Given the description of an element on the screen output the (x, y) to click on. 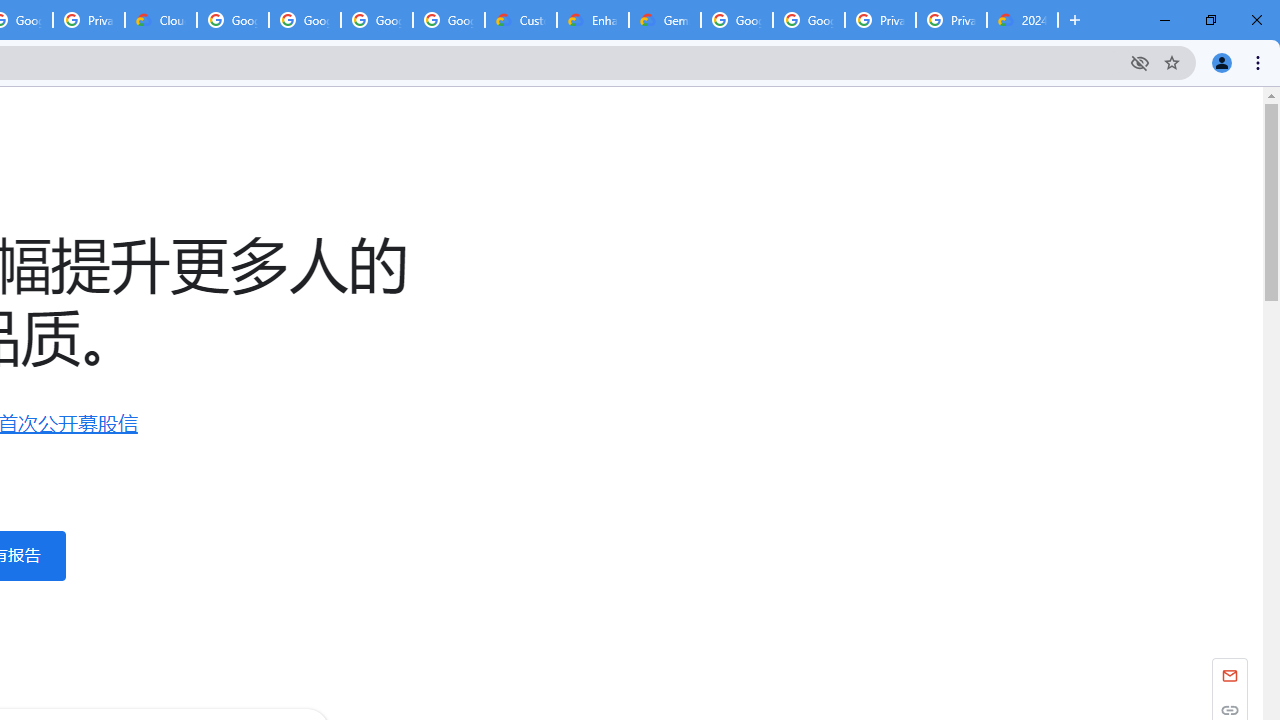
Cloud Data Processing Addendum | Google Cloud (161, 20)
Google Cloud Platform (737, 20)
Google Workspace - Specific Terms (376, 20)
Google Cloud Platform (808, 20)
Gemini for Business and Developers | Google Cloud (664, 20)
